Given the description of an element on the screen output the (x, y) to click on. 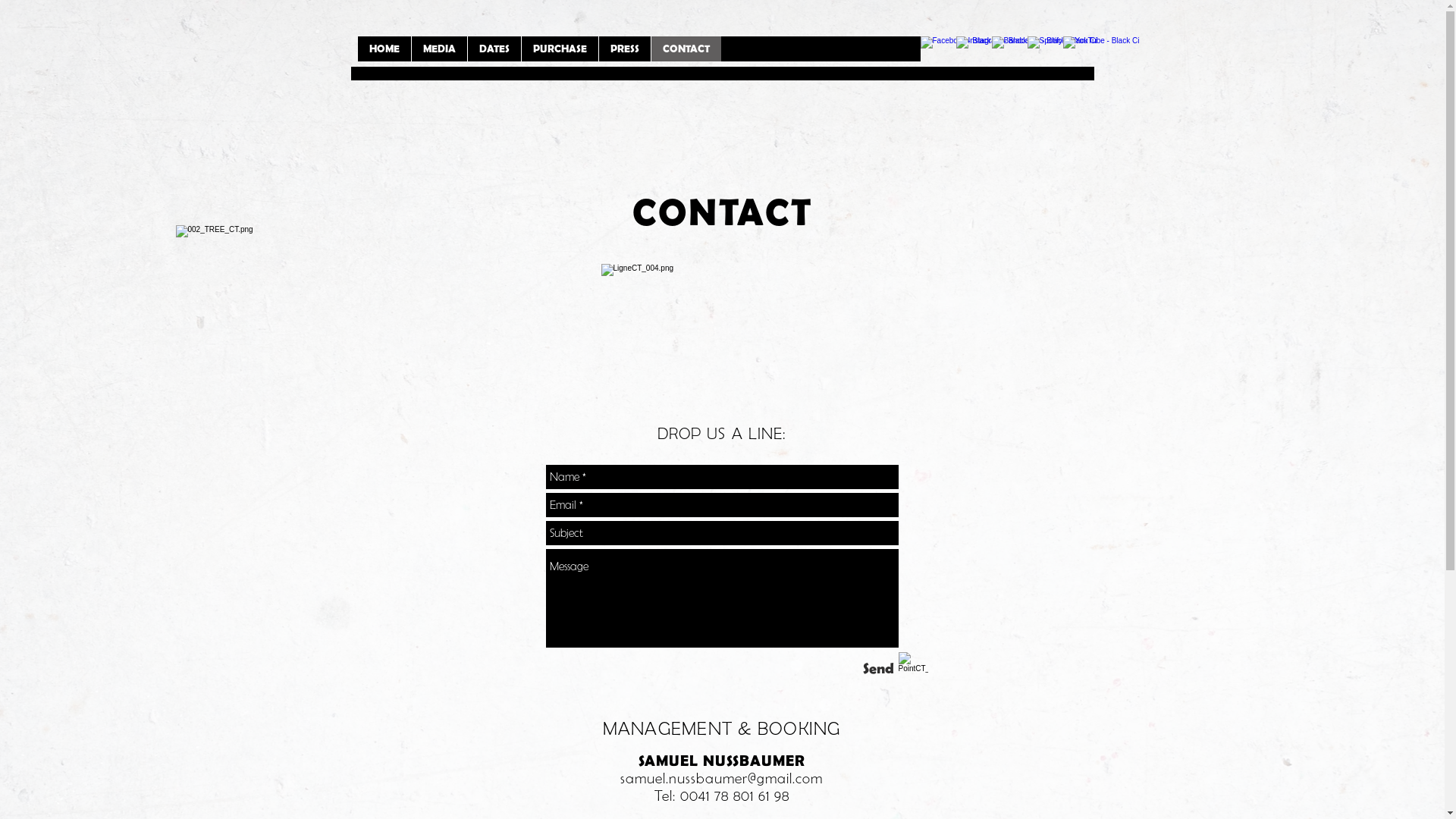
CONTACT Element type: text (685, 48)
MEDIA Element type: text (439, 48)
HOME Element type: text (384, 48)
PURCHASE Element type: text (558, 48)
Send Element type: text (877, 667)
PRESS Element type: text (623, 48)
DATES Element type: text (493, 48)
samuel.nussbaumer@gmail.com Element type: text (721, 777)
